Given the description of an element on the screen output the (x, y) to click on. 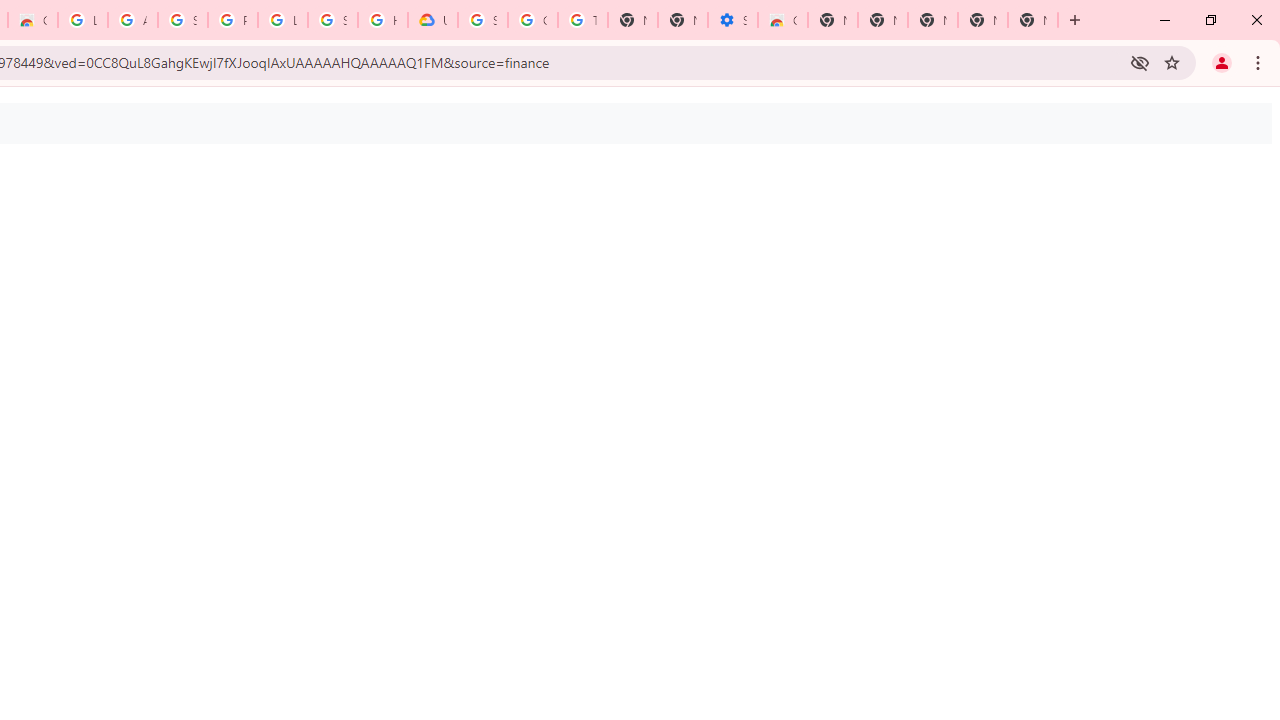
Google Account Help (533, 20)
New Tab (832, 20)
Settings - Accessibility (732, 20)
Sign in - Google Accounts (182, 20)
Sign in - Google Accounts (333, 20)
